Given the description of an element on the screen output the (x, y) to click on. 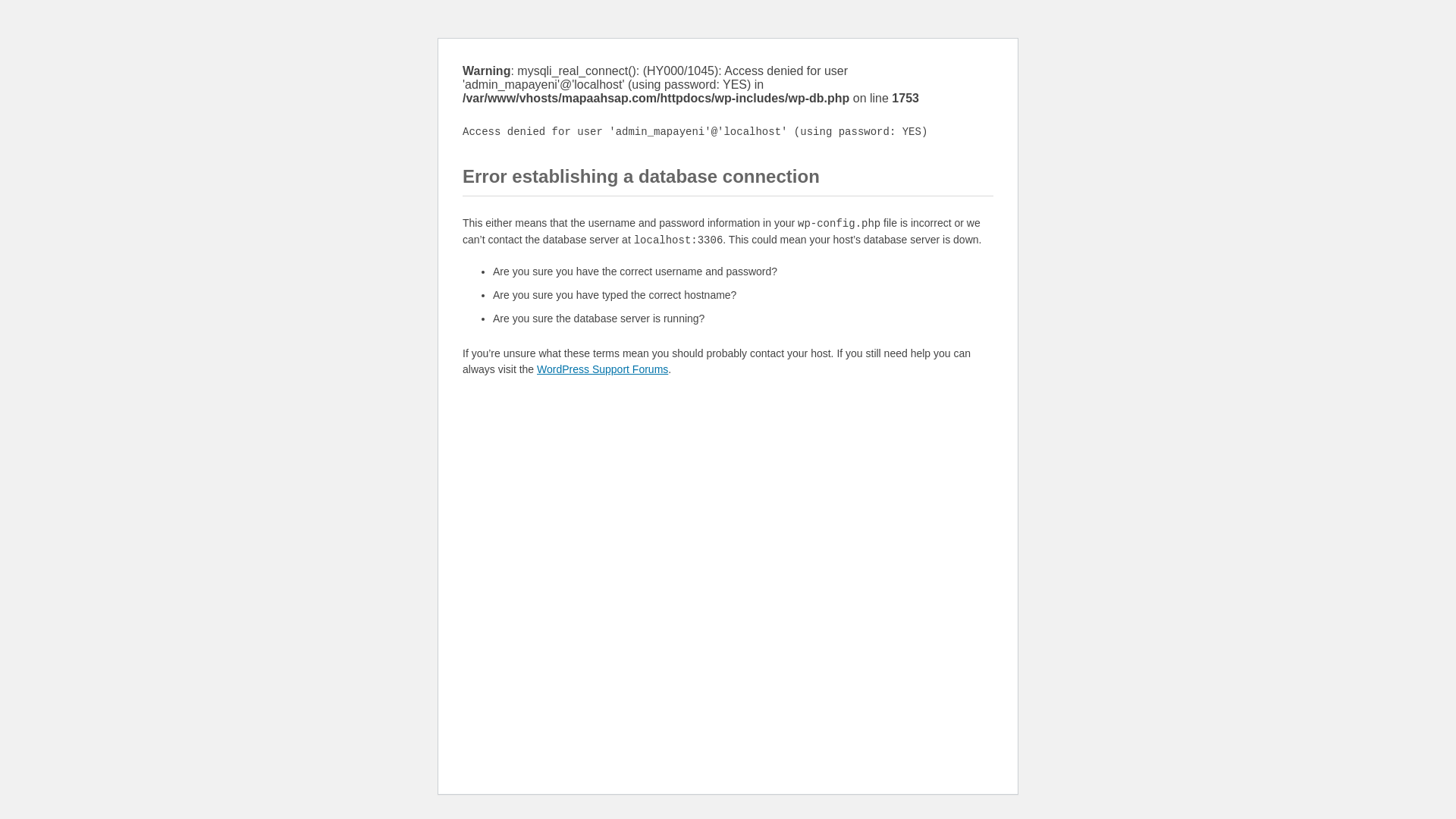
WordPress Support Forums (602, 369)
